Given the description of an element on the screen output the (x, y) to click on. 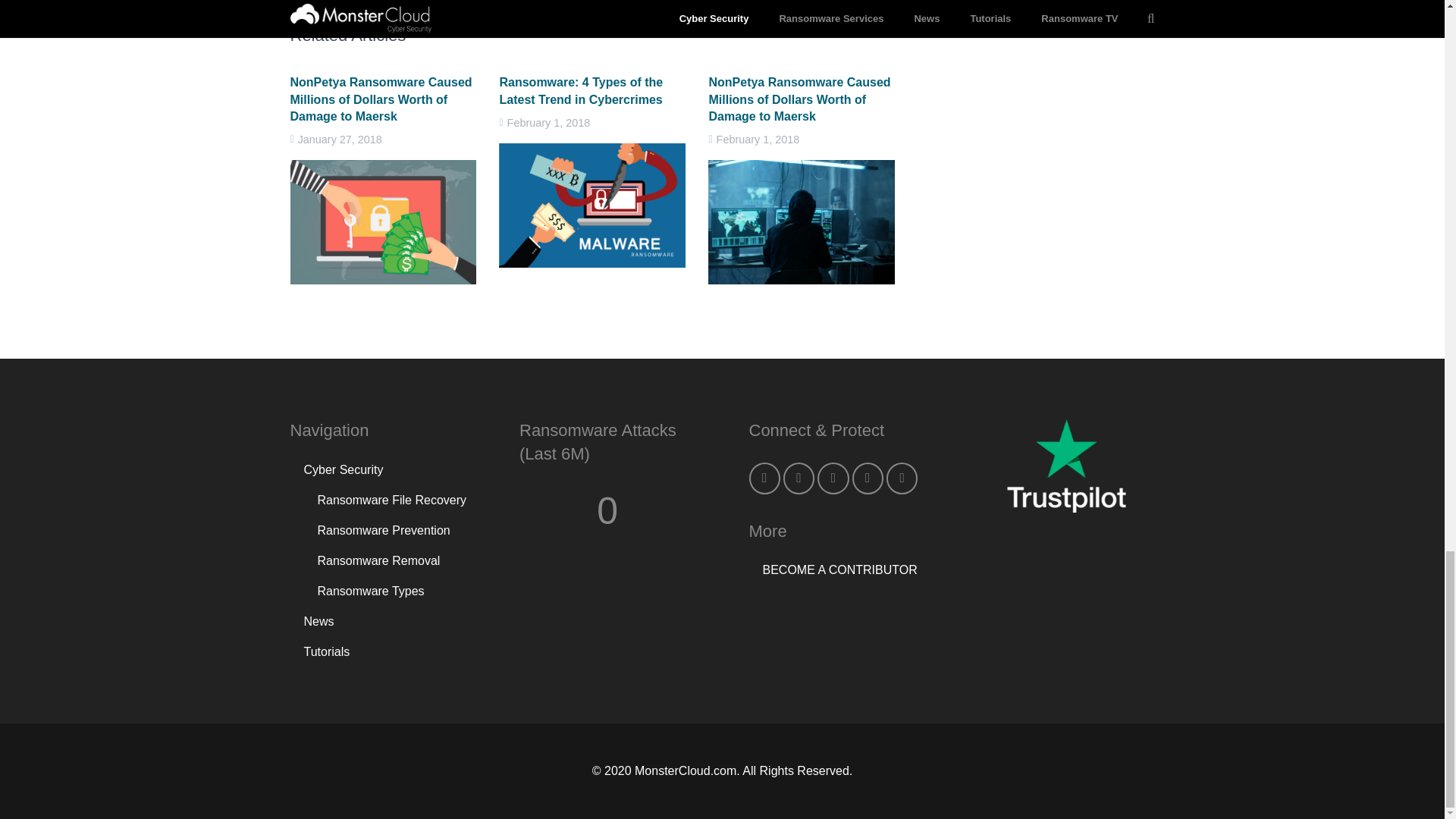
Ransomware: 4 Types of the Latest Trend in Cybercrimes (580, 90)
